Given the description of an element on the screen output the (x, y) to click on. 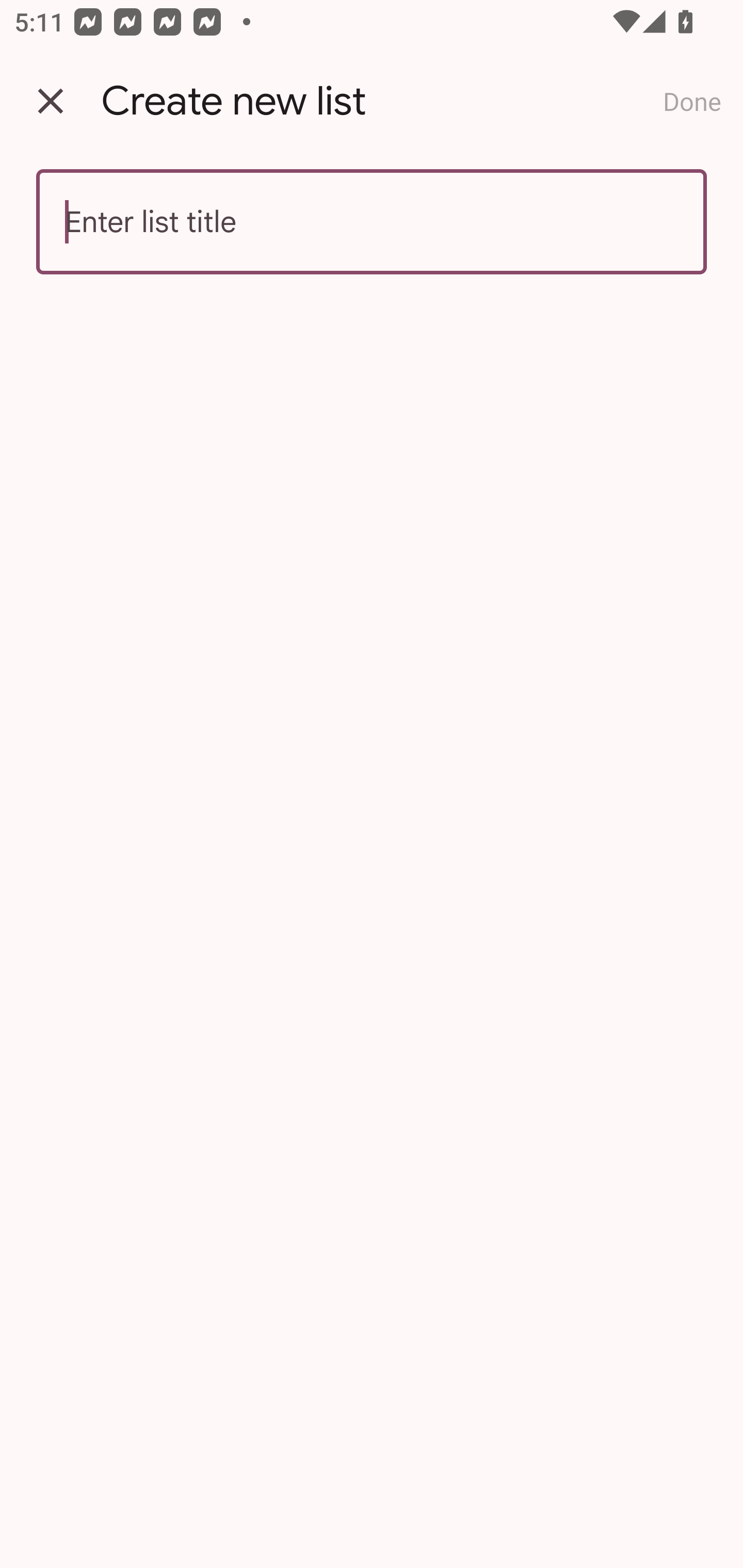
Back (50, 101)
Done (692, 101)
Enter list title (371, 221)
